Given the description of an element on the screen output the (x, y) to click on. 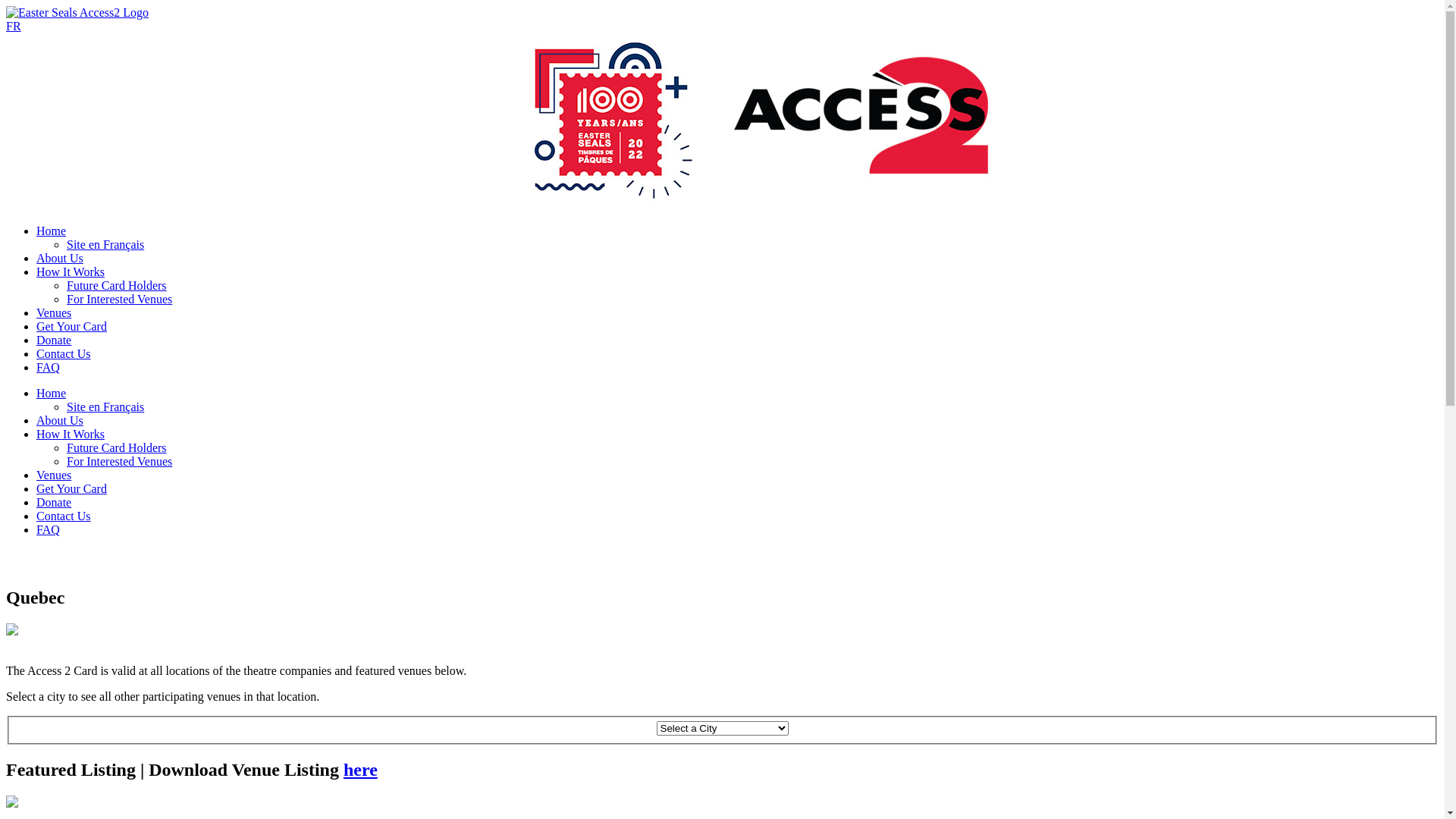
Get Your Card Element type: text (71, 326)
For Interested Venues Element type: text (119, 298)
Contact Us Element type: text (63, 515)
FR Element type: text (13, 25)
About Us Element type: text (59, 257)
FAQ Element type: text (47, 529)
Future Card Holders Element type: text (116, 285)
Venues Element type: text (53, 474)
About Us Element type: text (59, 420)
Home Element type: text (50, 230)
Contact Us Element type: text (63, 353)
Venues Element type: text (53, 312)
Donate Element type: text (53, 501)
For Interested Venues Element type: text (119, 461)
Future Card Holders Element type: text (116, 447)
How It Works Element type: text (70, 433)
How It Works Element type: text (70, 271)
FAQ Element type: text (47, 366)
Donate Element type: text (53, 339)
Home Element type: text (50, 392)
Get Your Card Element type: text (71, 488)
here Element type: text (360, 769)
